Given the description of an element on the screen output the (x, y) to click on. 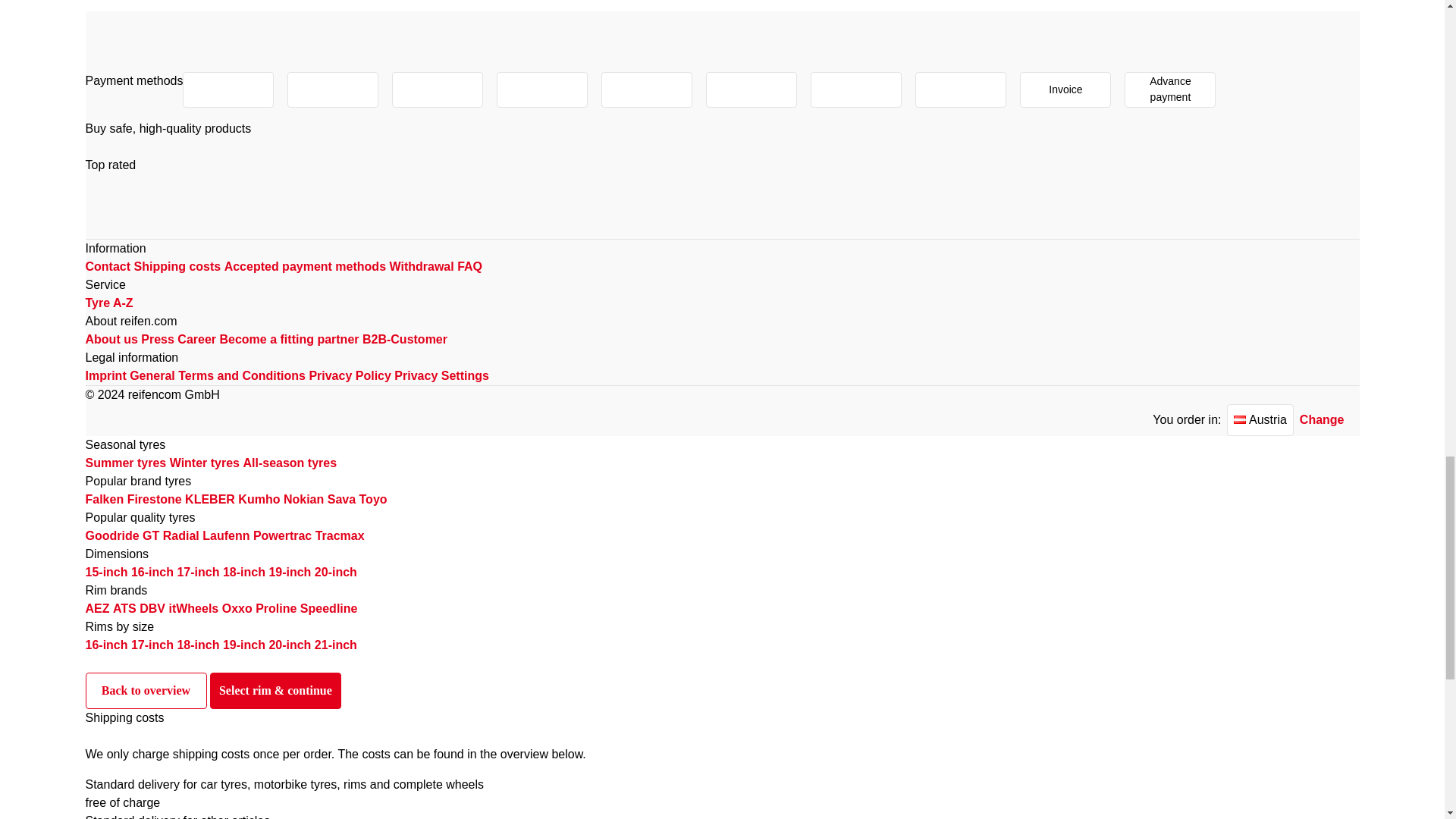
Withdrawal (420, 266)
Accepted payment methods (304, 266)
